Given the description of an element on the screen output the (x, y) to click on. 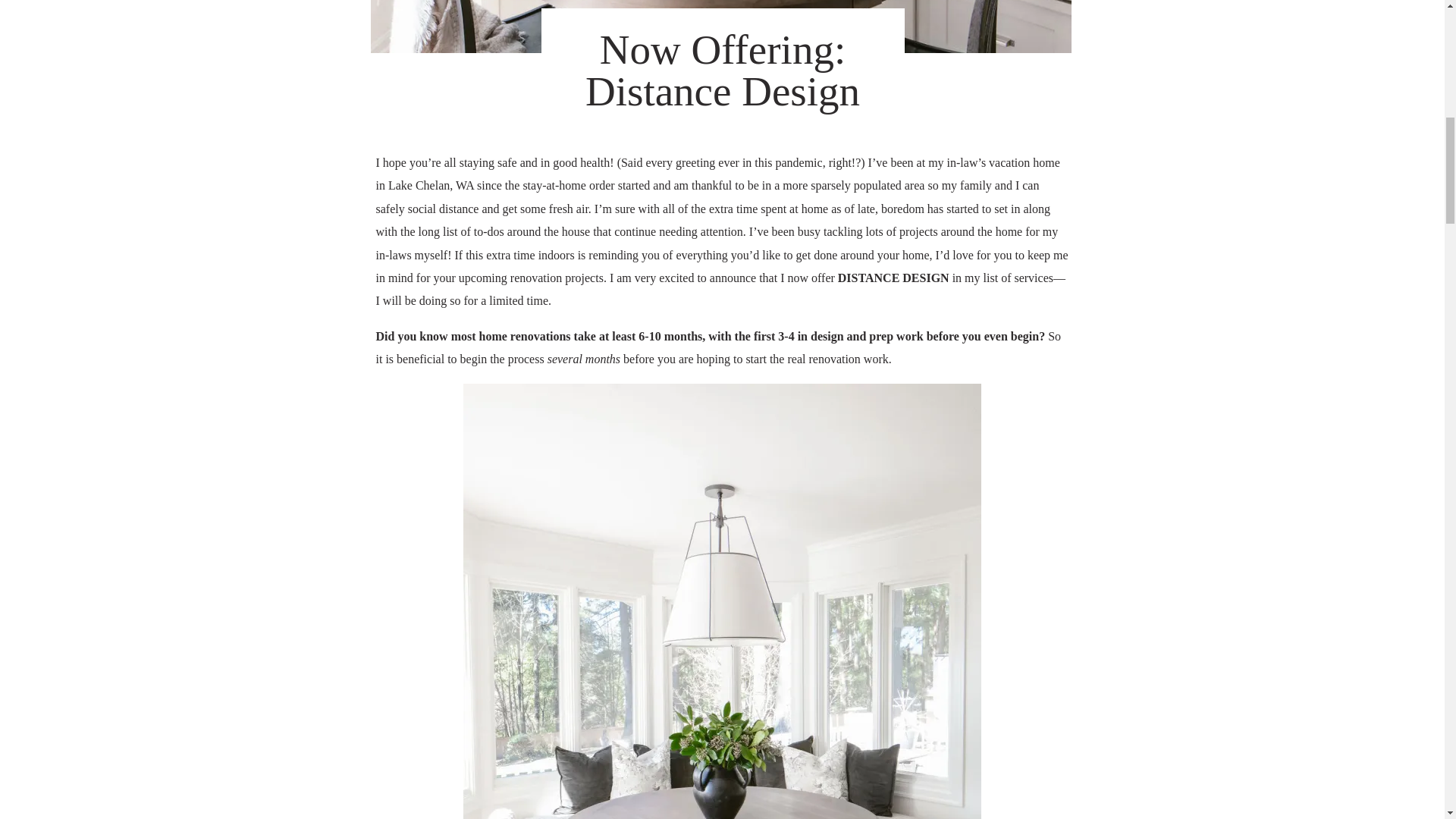
Now Offering: Distance Design (719, 26)
